Given the description of an element on the screen output the (x, y) to click on. 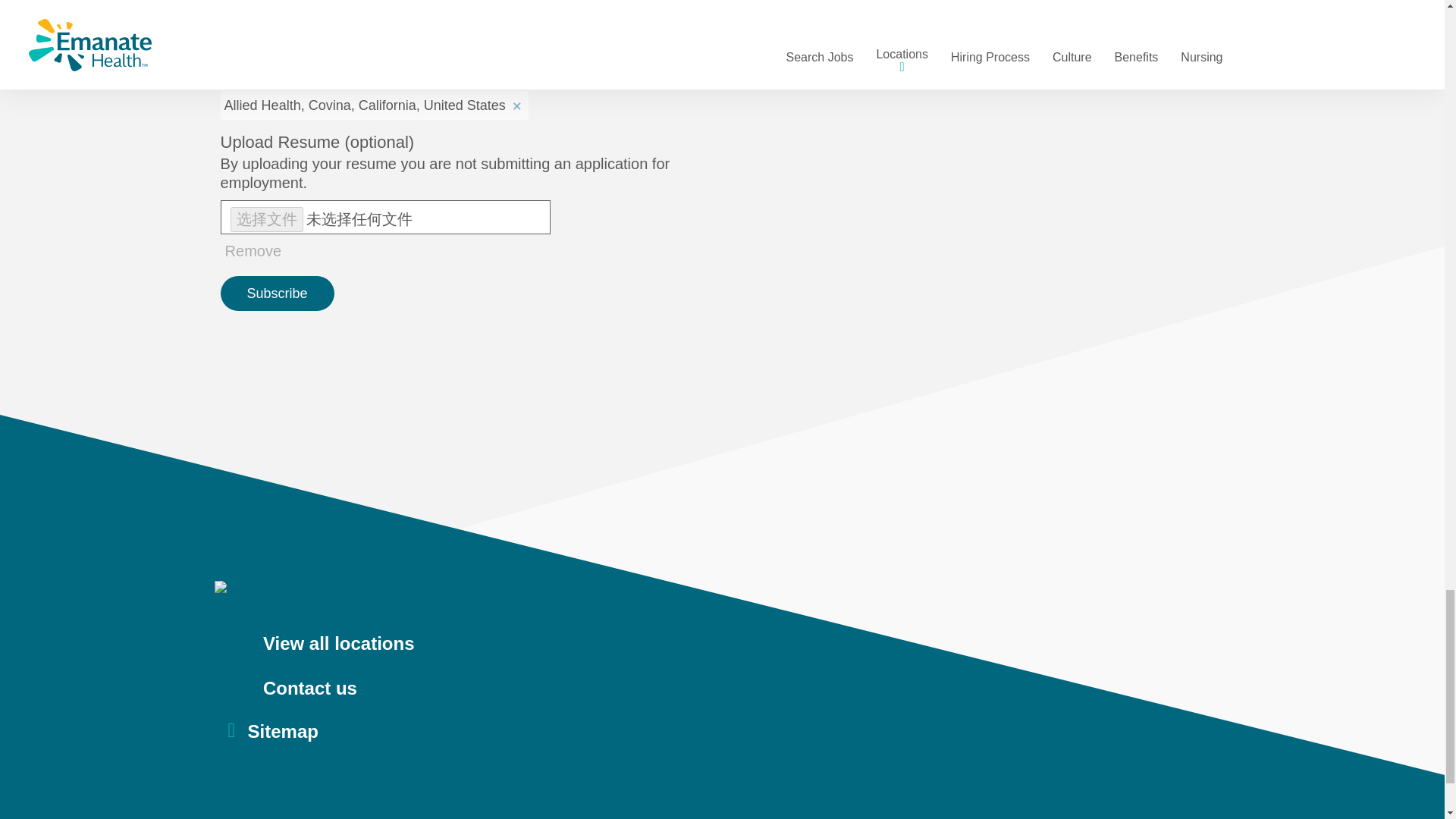
Remove (516, 103)
Subscribe (277, 293)
Remove (253, 251)
View all locations (728, 644)
Contact us (728, 688)
Add (711, 61)
